Given the description of an element on the screen output the (x, y) to click on. 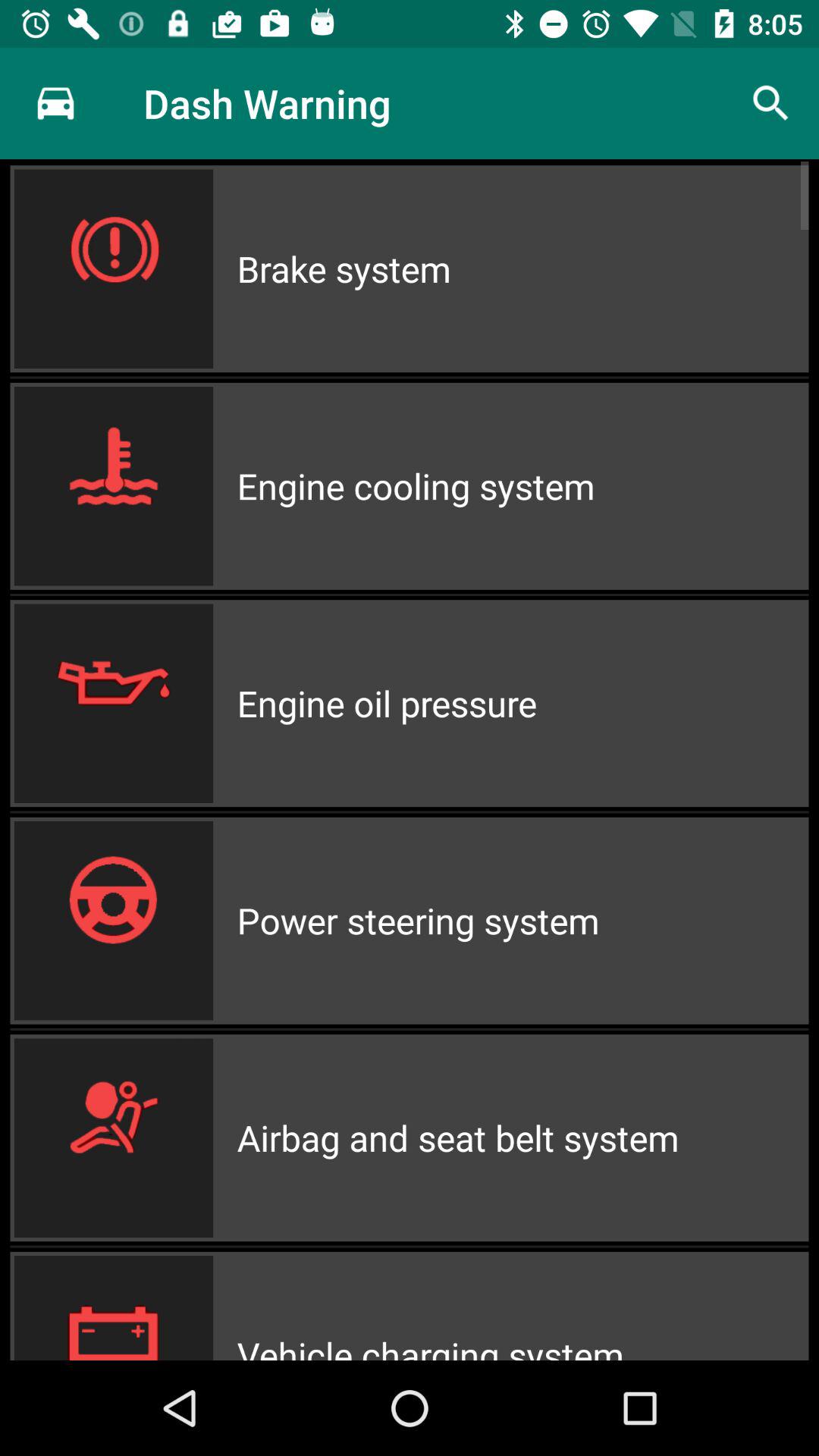
turn on item above the engine oil pressure icon (522, 485)
